Given the description of an element on the screen output the (x, y) to click on. 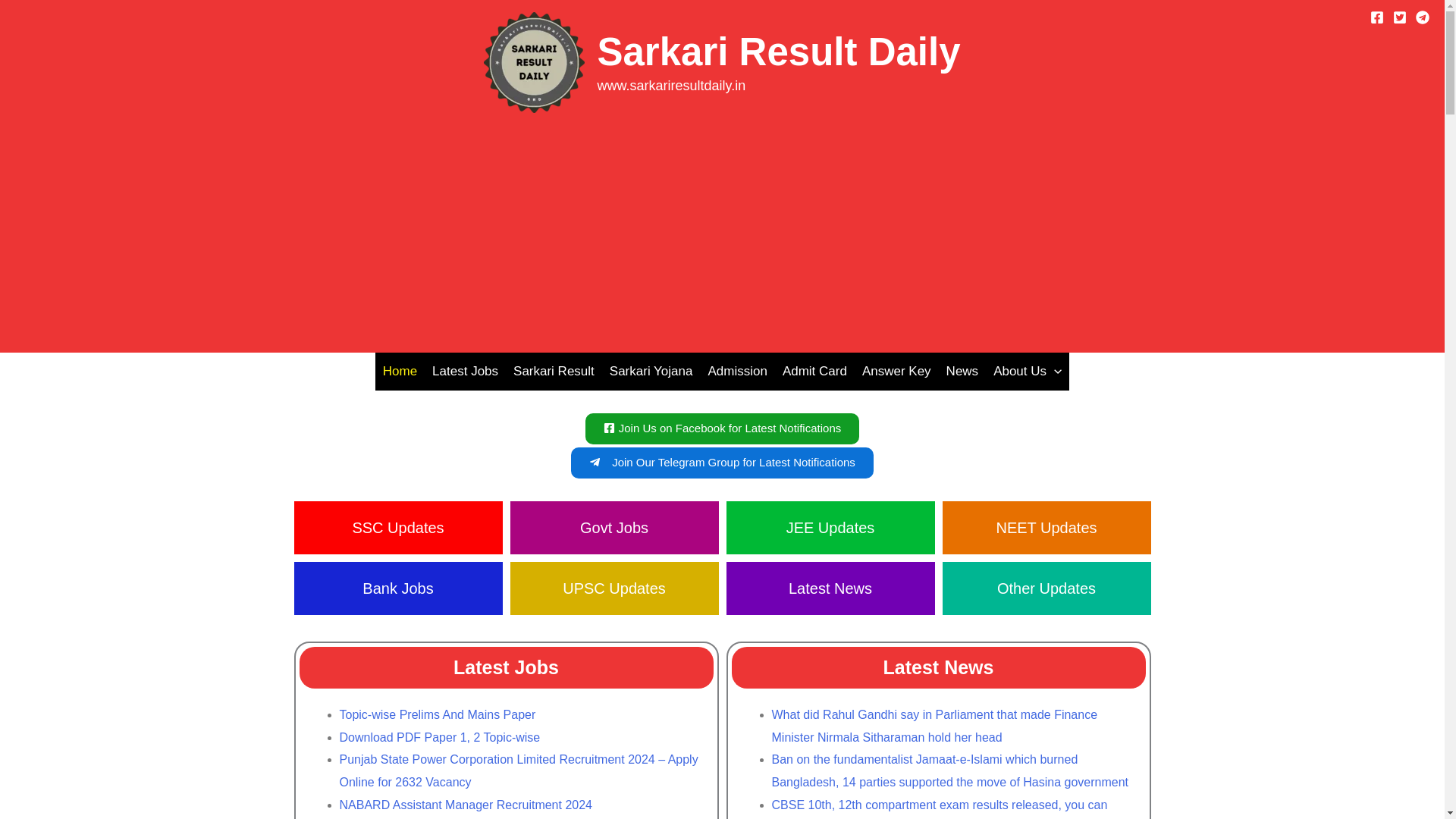
Admission (737, 371)
Sarkari Result Daily (777, 51)
Sarkari Result (553, 371)
Sarkari Yojana (651, 371)
Home (400, 371)
Answer Key (896, 371)
Latest Jobs (465, 371)
News (963, 371)
Admit Card (814, 371)
About Us (1026, 371)
